Given the description of an element on the screen output the (x, y) to click on. 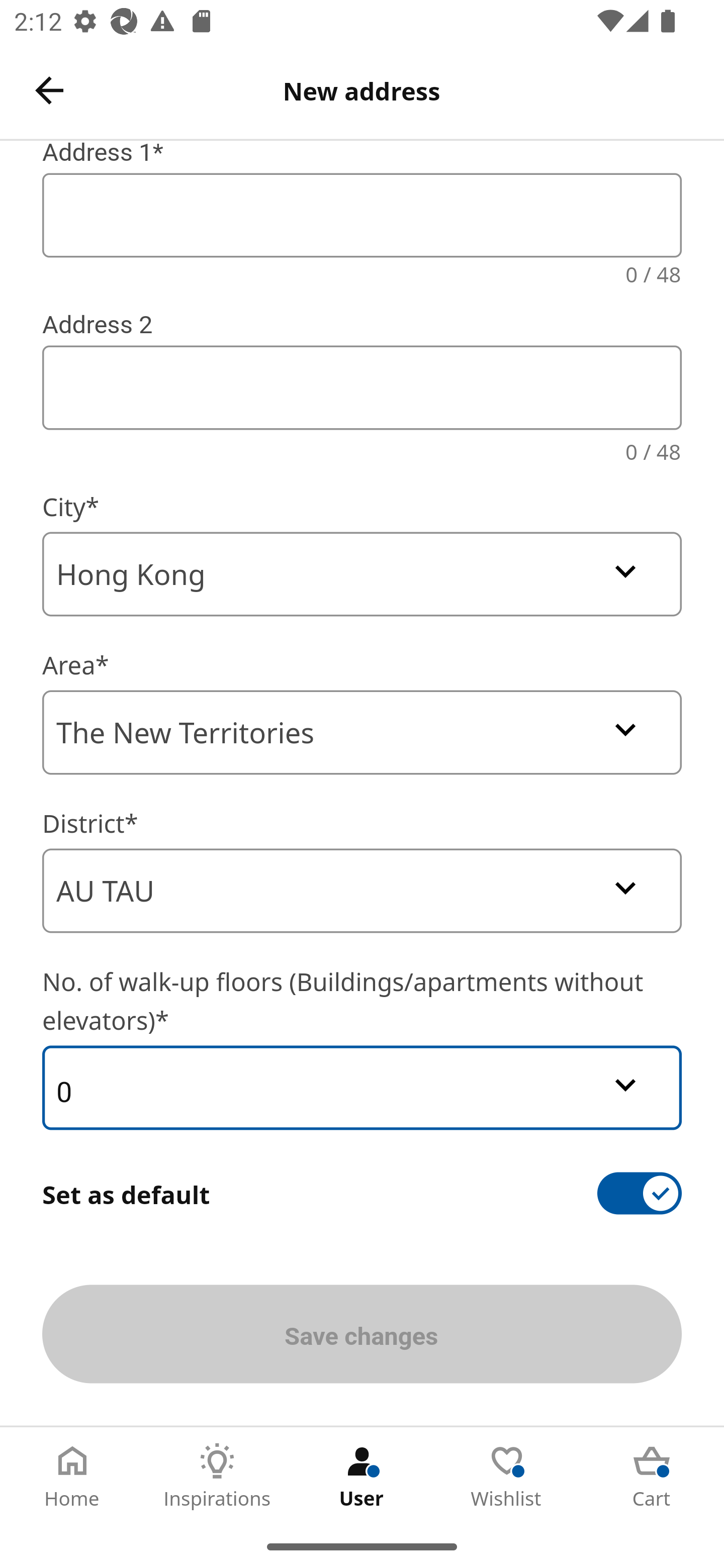
Hong Kong (361, 573)
The New Territories (361, 731)
AU TAU (361, 890)
0 (361, 1087)
Save changes (361, 1333)
Home
Tab 1 of 5 (72, 1476)
Inspirations
Tab 2 of 5 (216, 1476)
User
Tab 3 of 5 (361, 1476)
Wishlist
Tab 4 of 5 (506, 1476)
Cart
Tab 5 of 5 (651, 1476)
